Given the description of an element on the screen output the (x, y) to click on. 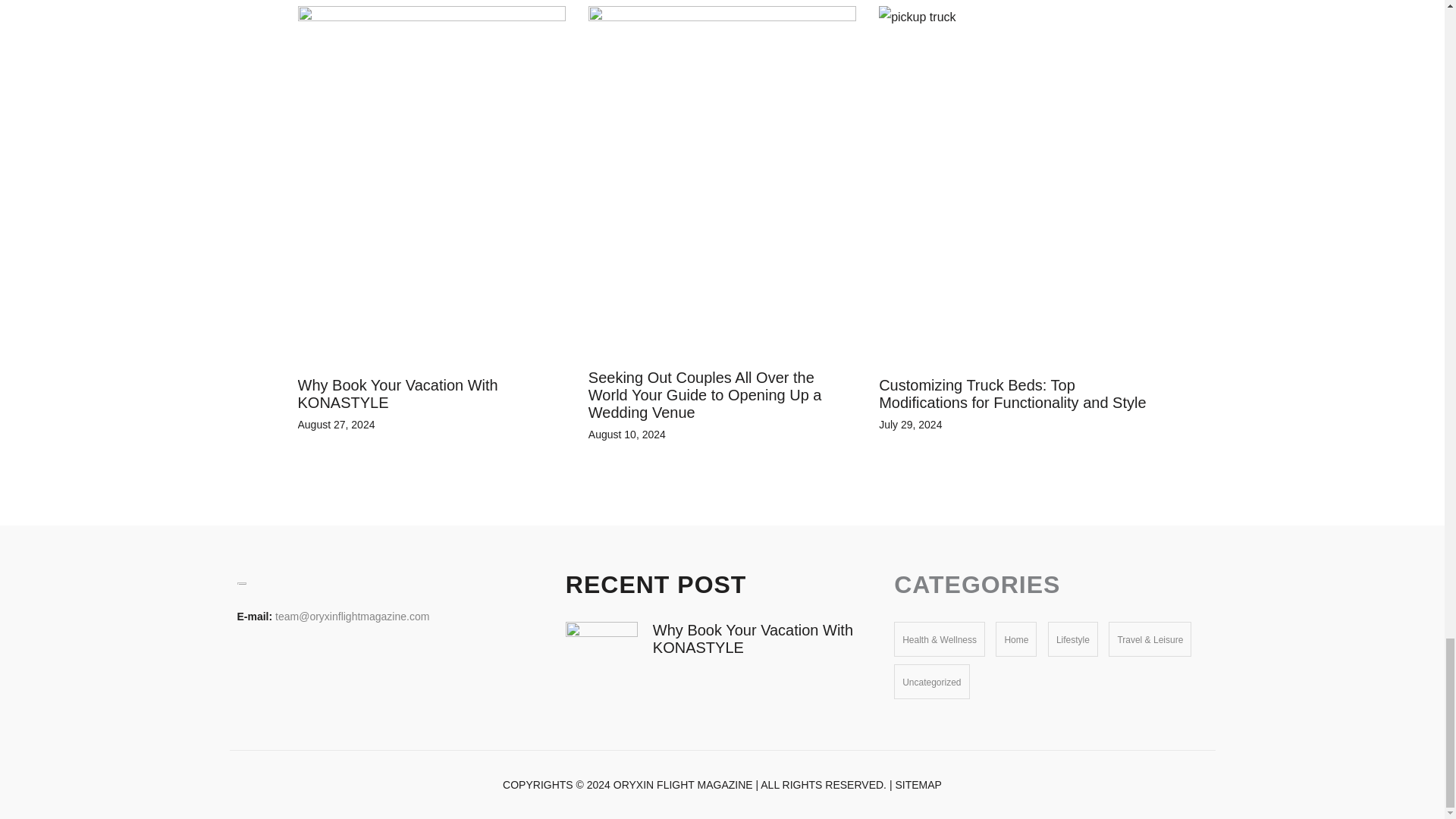
Lifestyle (1073, 639)
Why Book Your Vacation With KONASTYLE (397, 393)
Why Book Your Vacation With KONASTYLE (752, 638)
Uncategorized (931, 682)
Home (1015, 639)
SITEMAP (917, 784)
